Given the description of an element on the screen output the (x, y) to click on. 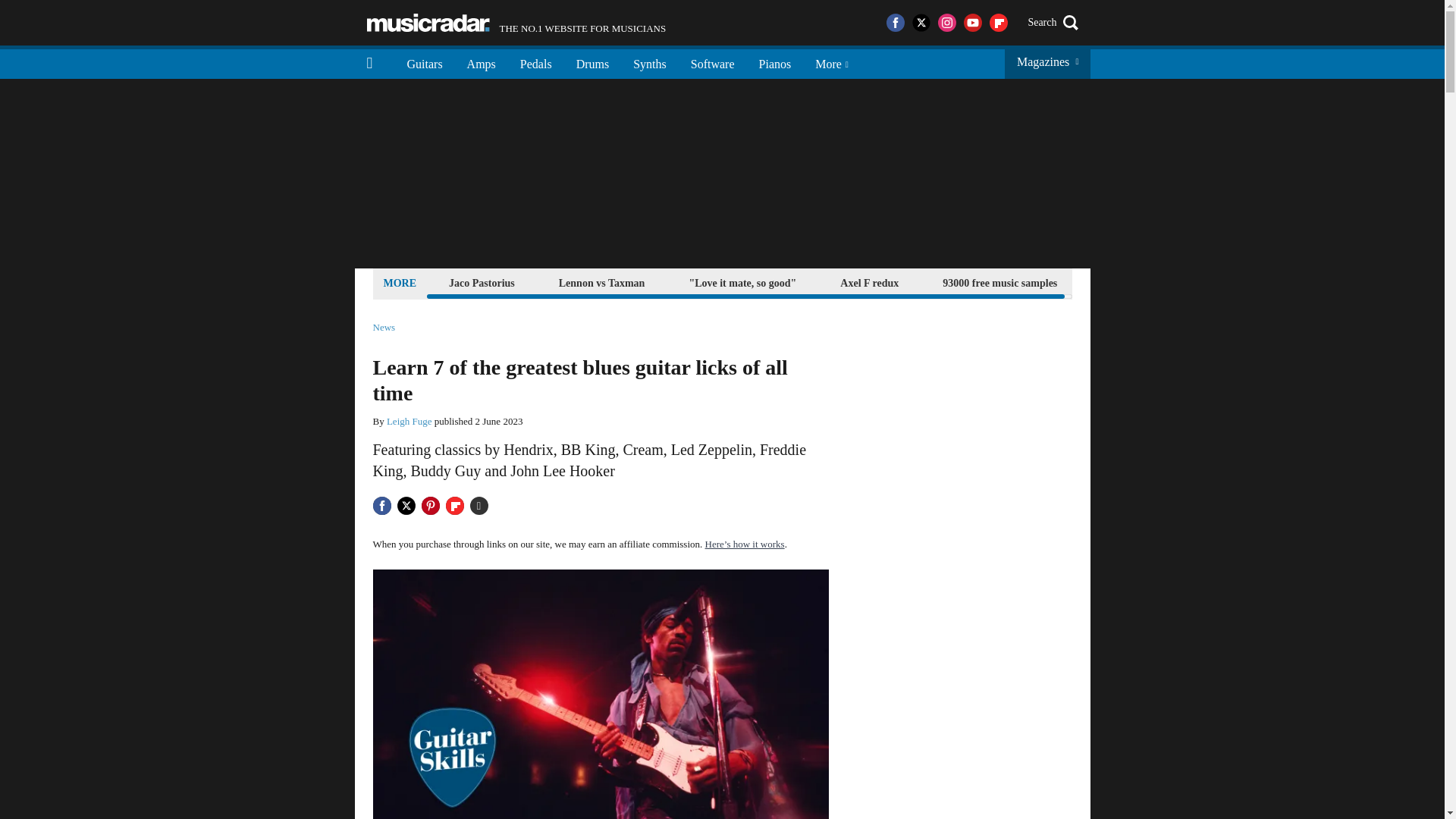
Music Radar (427, 22)
Amps (481, 61)
Axel F redux (869, 282)
Drums (592, 61)
Pedals (536, 61)
Jaco Pastorius (481, 282)
Pianos (774, 61)
93000 free music samples (999, 282)
"Love it mate, so good" (742, 282)
Guitars (516, 22)
Lennon vs Taxman (424, 61)
Software (601, 282)
Synths (712, 61)
